Given the description of an element on the screen output the (x, y) to click on. 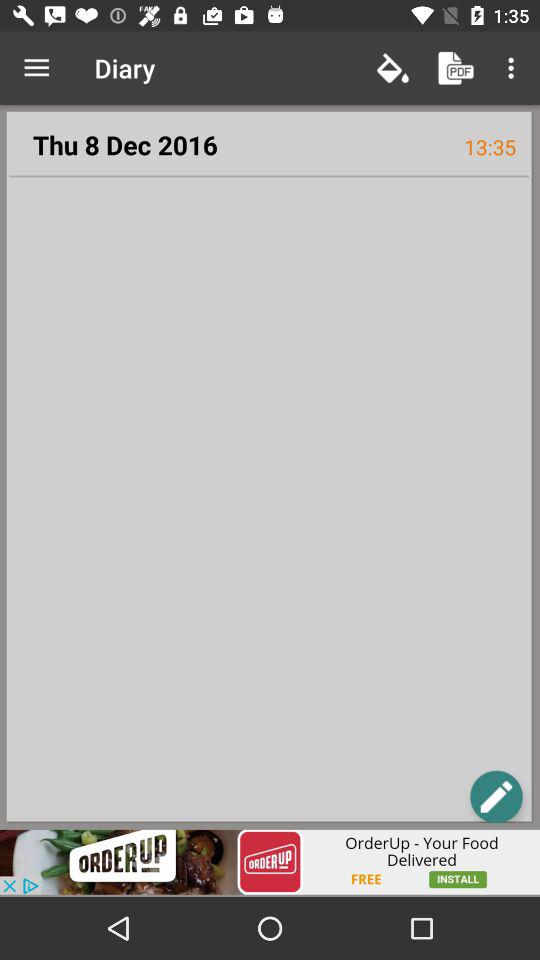
open an advertisement (270, 861)
